Given the description of an element on the screen output the (x, y) to click on. 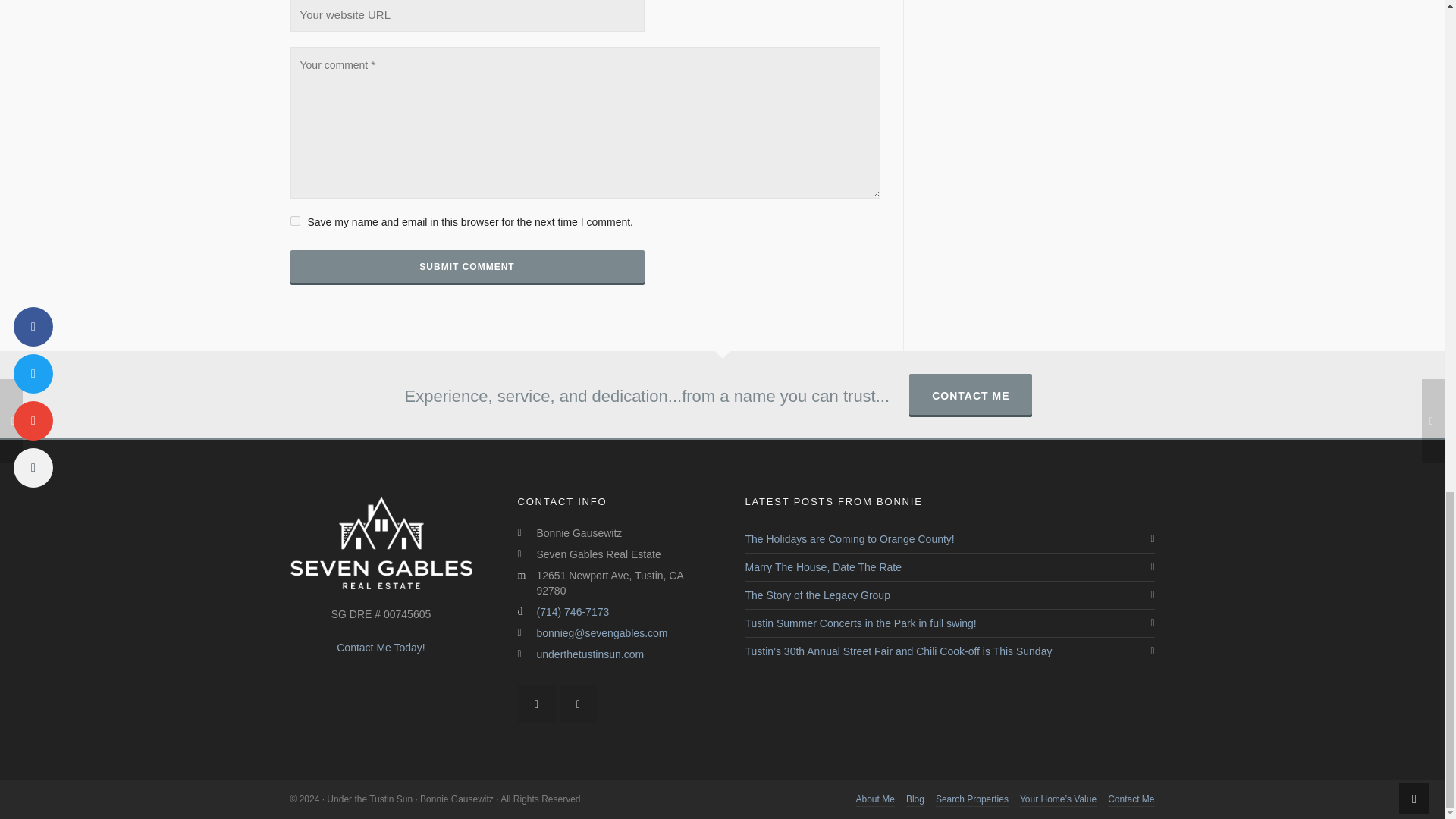
Contact Me Today! (380, 647)
Submit Comment (466, 266)
yes (294, 221)
CONTACT ME (970, 393)
Submit Comment (466, 266)
